Given the description of an element on the screen output the (x, y) to click on. 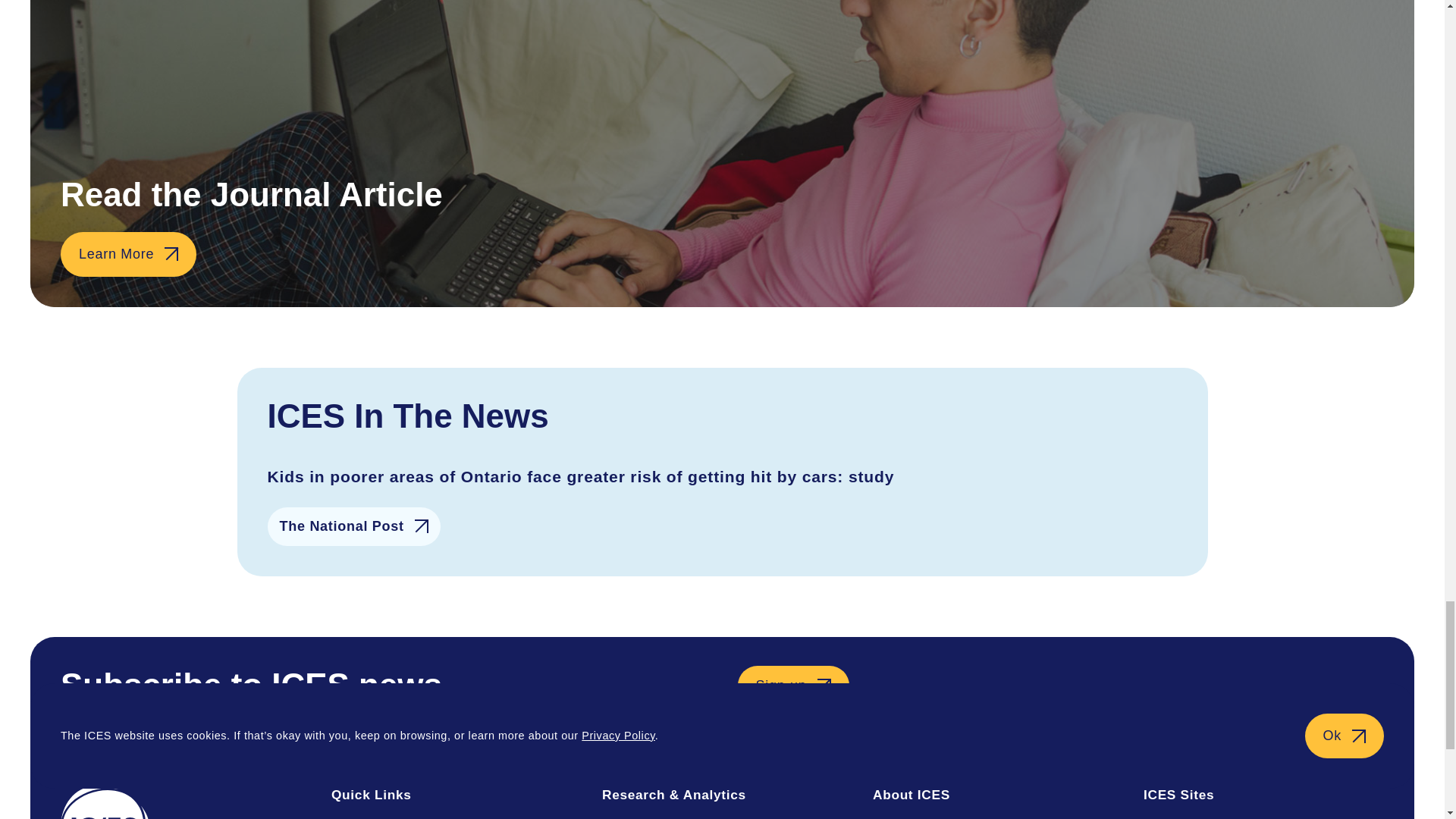
ICES (181, 802)
